Given the description of an element on the screen output the (x, y) to click on. 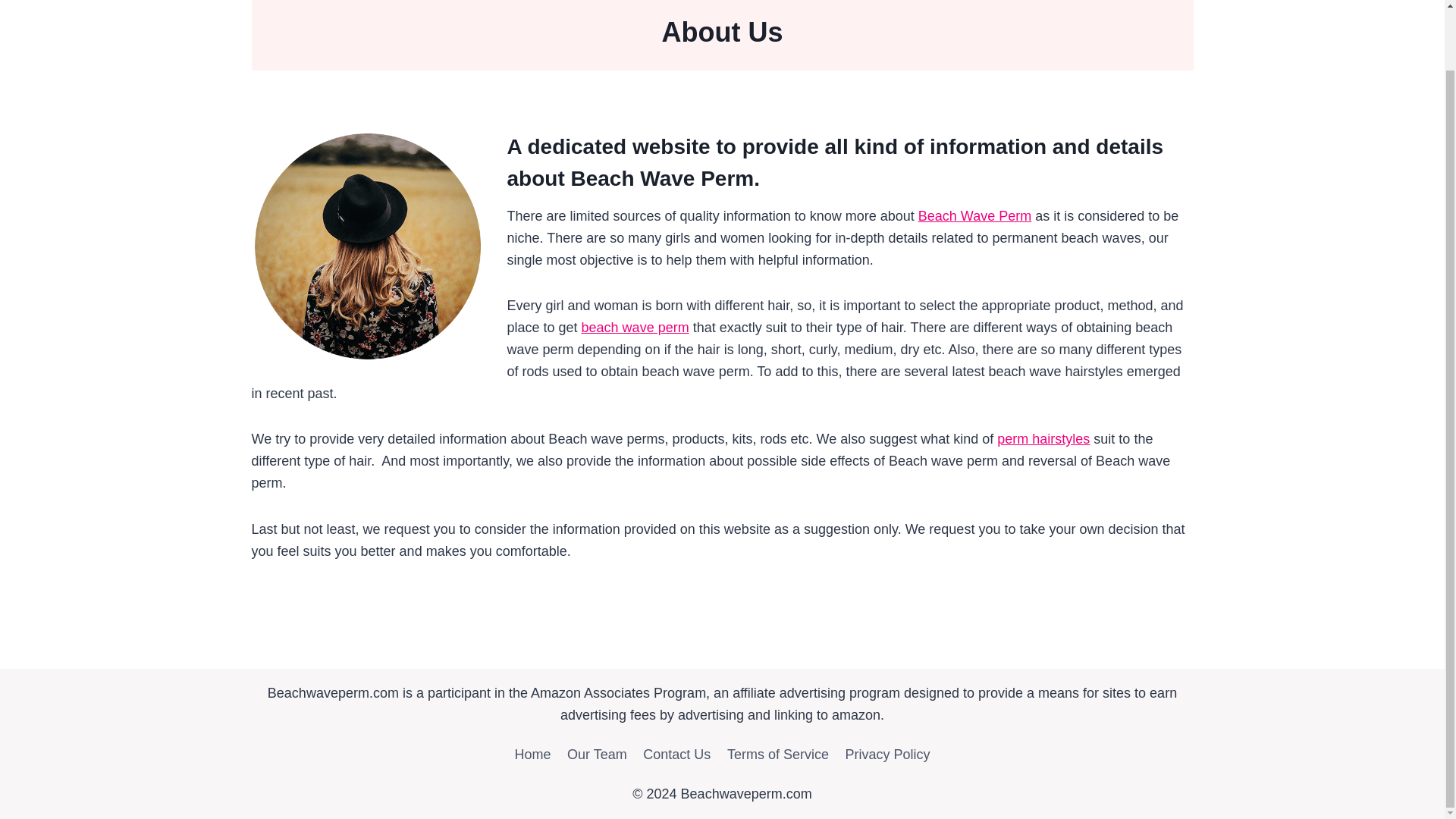
Home (532, 755)
Beach Wave Perm (974, 215)
perm rod hair styles (1043, 438)
beach wave perm (634, 327)
Our Team (596, 755)
Beach Wave Perms - A Complete Guide (634, 327)
Privacy Policy (888, 755)
Terms of Service (778, 755)
perm hairstyles (1043, 438)
Contact Us (676, 755)
